Given the description of an element on the screen output the (x, y) to click on. 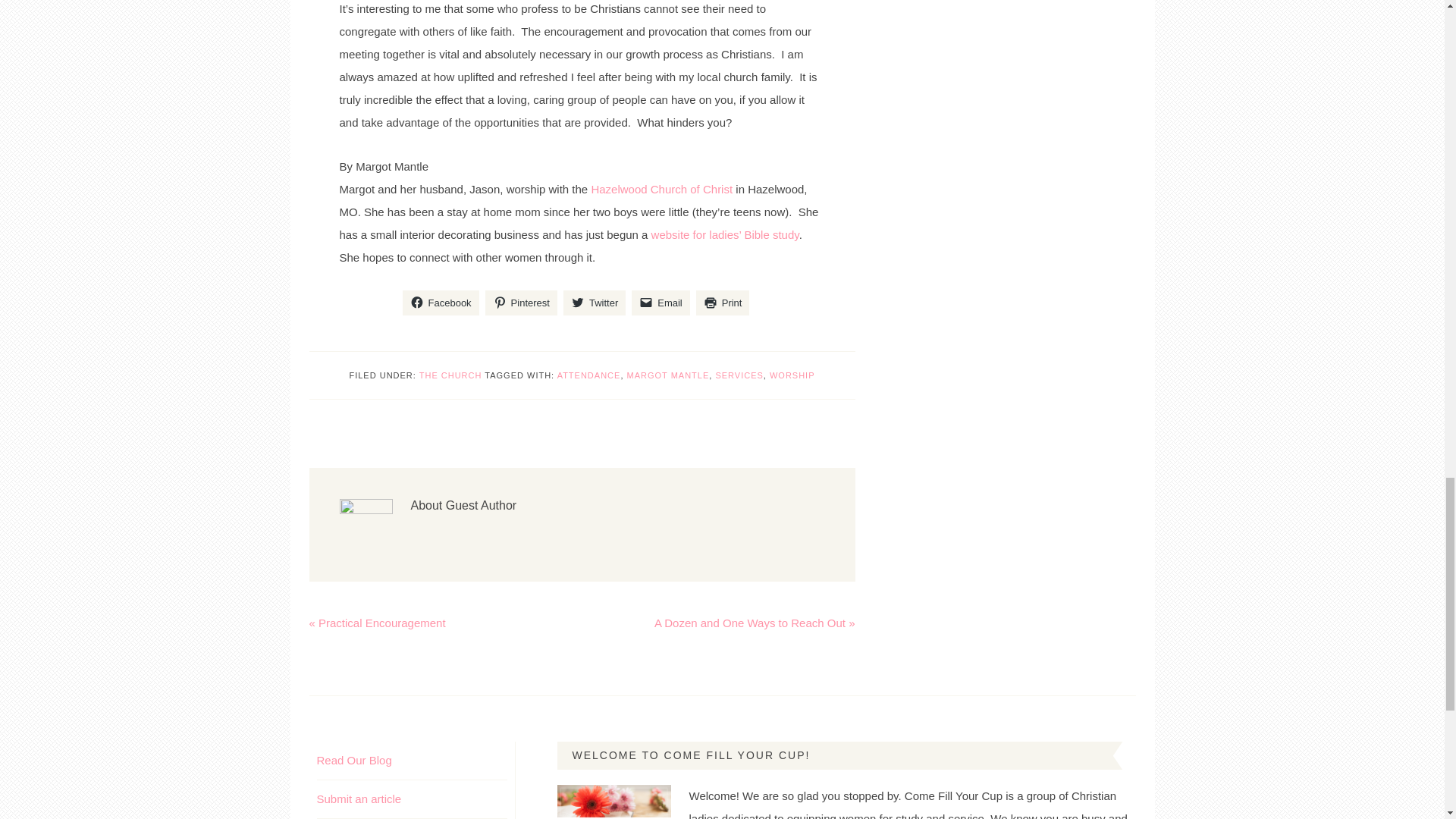
Click to share on Facebook (441, 302)
Click to share on Pinterest (520, 302)
WORSHIP (792, 375)
Hazelwood Church of Christ (663, 188)
Twitter (594, 302)
Pinterest (520, 302)
THE CHURCH (450, 375)
ATTENDANCE (589, 375)
Print (722, 302)
Click to email a link to a friend (660, 302)
